Given the description of an element on the screen output the (x, y) to click on. 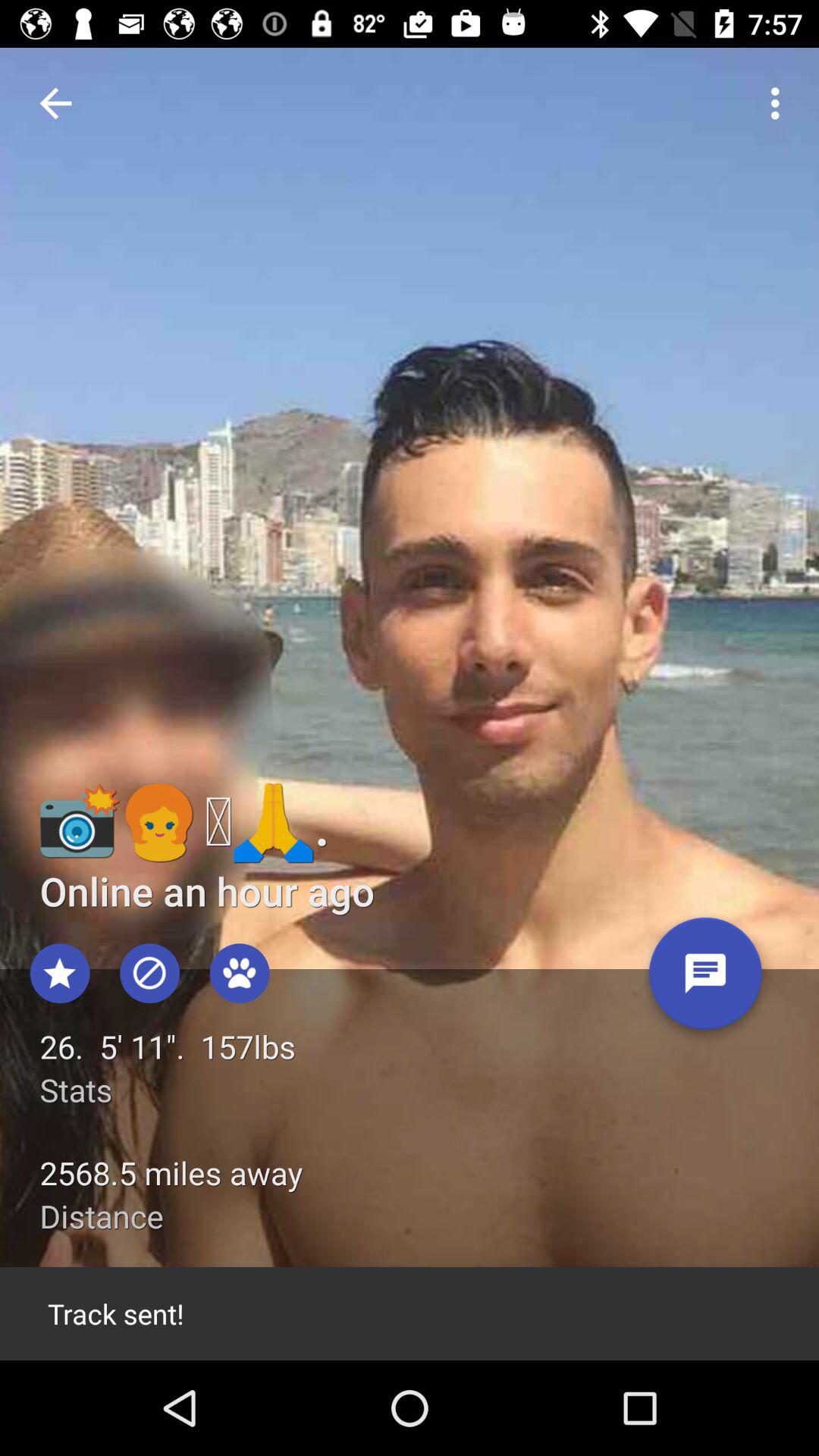
turn off the icon at the bottom right corner (705, 979)
